Given the description of an element on the screen output the (x, y) to click on. 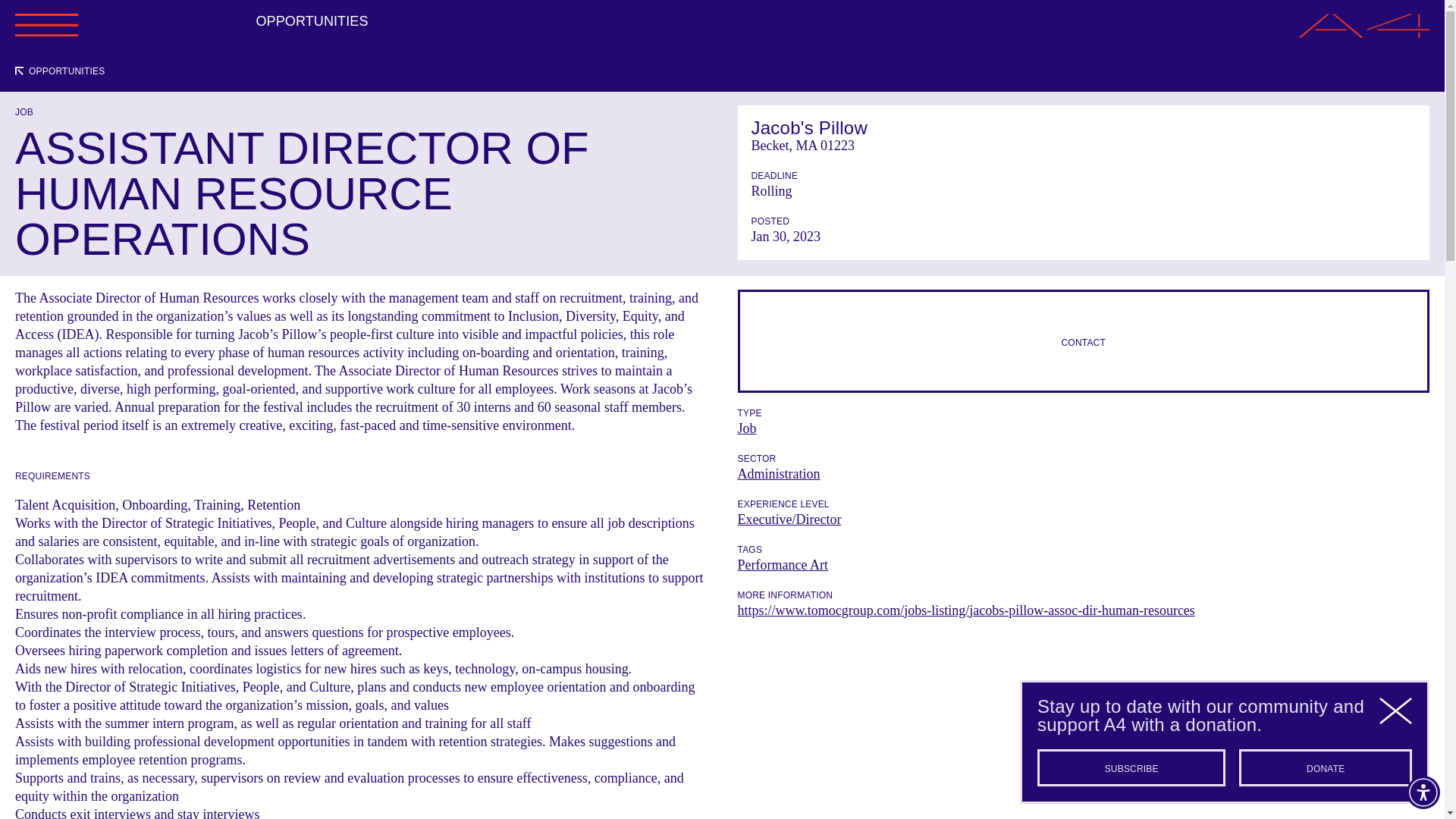
Performance Art (781, 564)
CONTACT (1082, 341)
OPPORTUNITIES (312, 21)
OPPORTUNITIES (59, 71)
Job (745, 427)
Accessibility Menu (1422, 792)
Administration (777, 473)
